Given the description of an element on the screen output the (x, y) to click on. 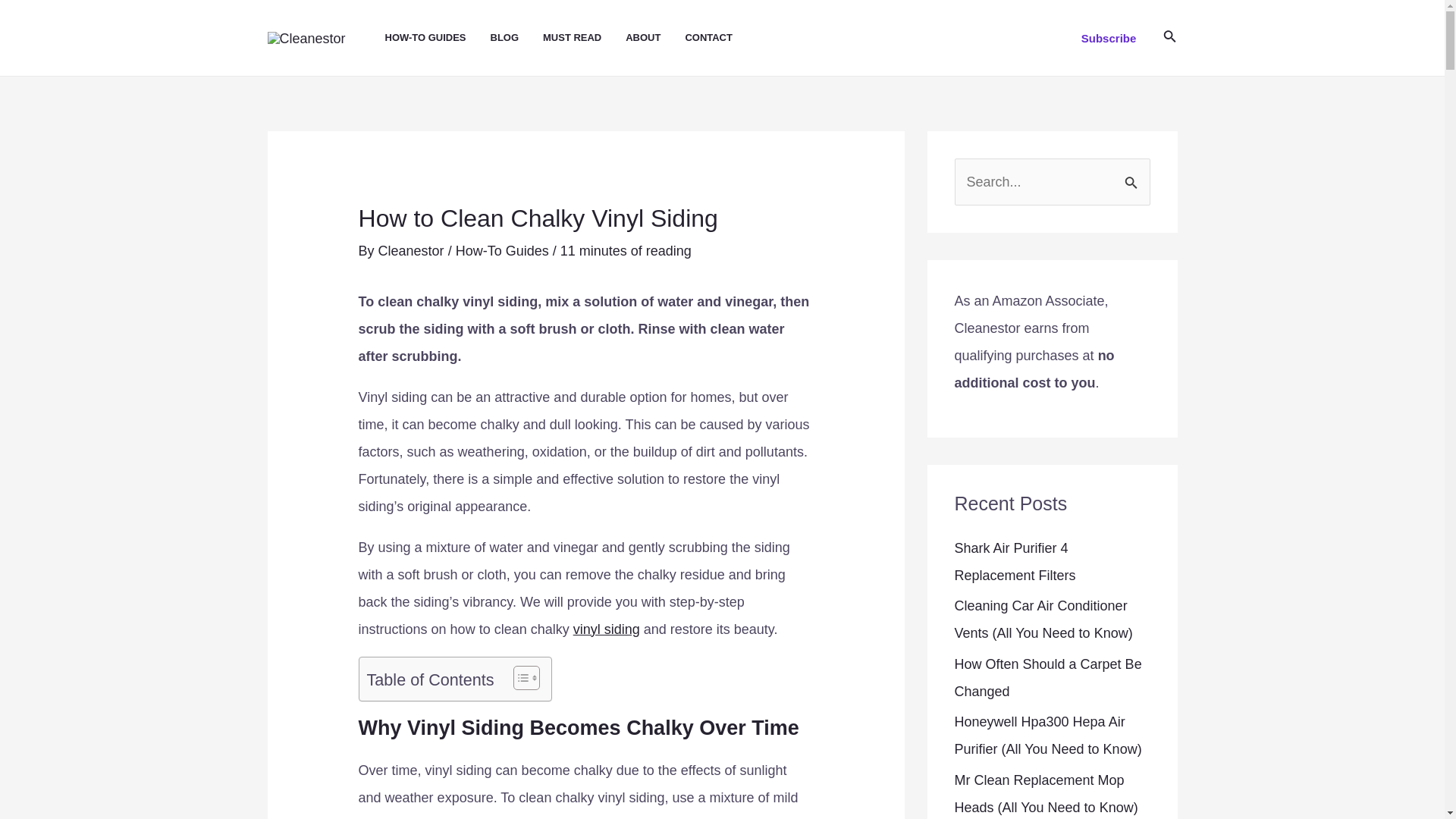
How-To Guides (501, 249)
HOW-TO GUIDES (437, 38)
MUST READ (584, 38)
View all posts by Cleanestor (413, 249)
Search (1133, 174)
CONTACT (720, 38)
Search (1133, 174)
vinyl siding (606, 629)
Cleanestor (413, 249)
Subscribe (1109, 37)
